Given the description of an element on the screen output the (x, y) to click on. 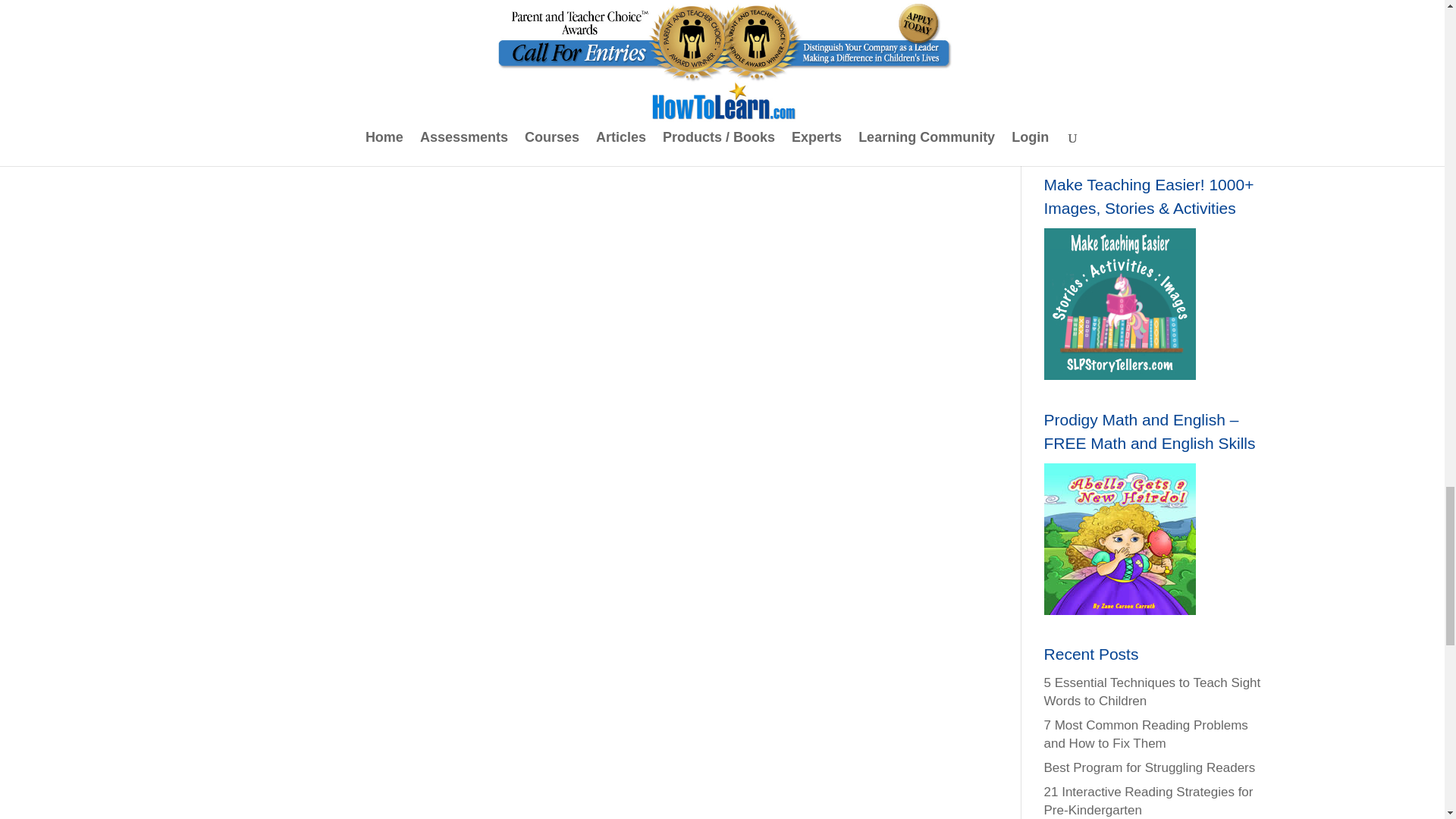
7 Most Common Reading Problems and How to Fix Them (1145, 734)
5 Essential Techniques to Teach Sight Words to Children (1151, 691)
Prodigy Math and English - FREE Math and English Skills (1119, 539)
Best Program for Struggling Readers (1149, 767)
21 Interactive Reading Strategies for Pre-Kindergarten (1148, 800)
